Given the description of an element on the screen output the (x, y) to click on. 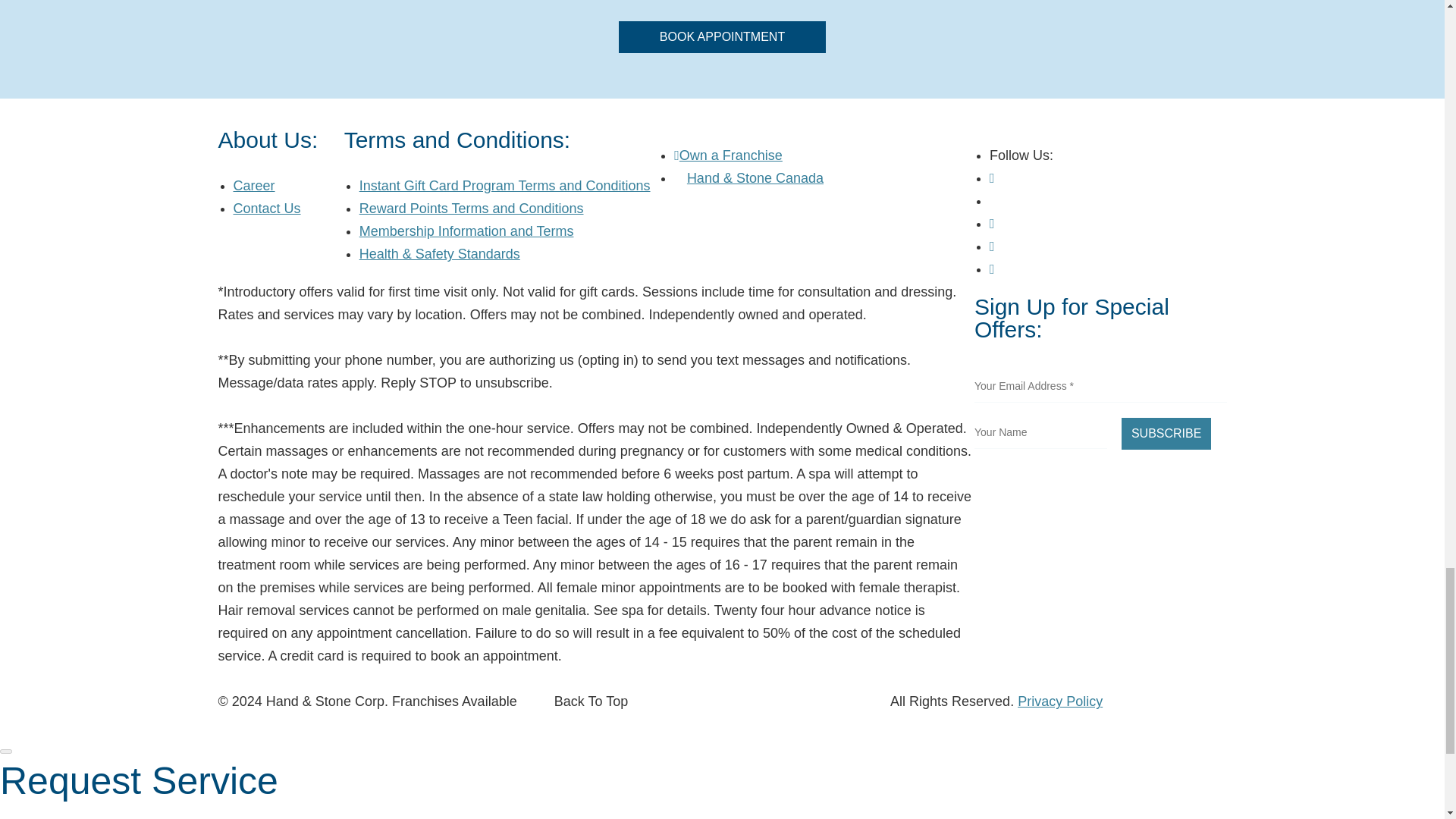
Find Us On Twitter (995, 199)
Back To Top (590, 701)
Subscribe (1166, 433)
